Given the description of an element on the screen output the (x, y) to click on. 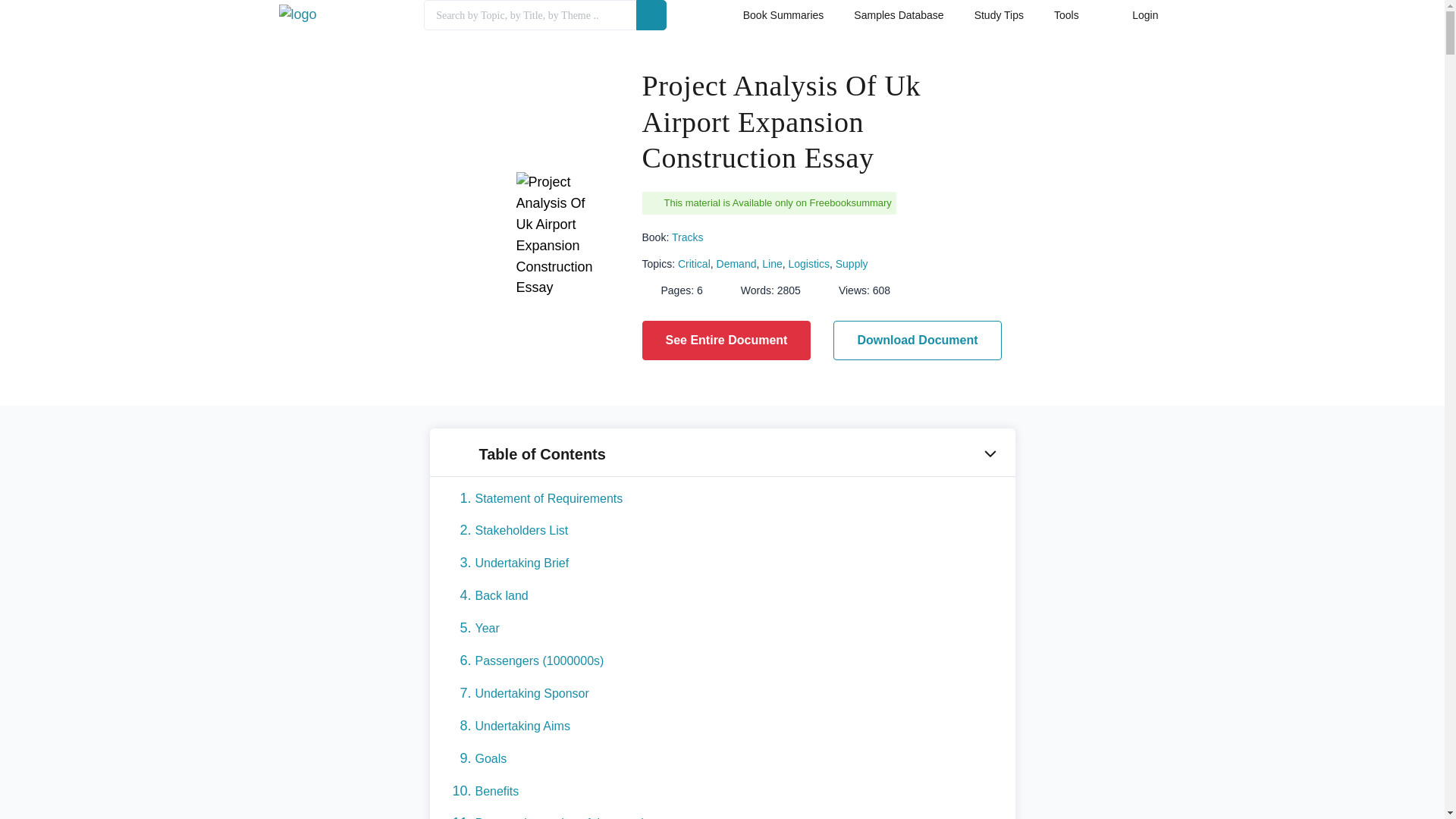
Goals (490, 758)
Undertaking Sponsor (531, 693)
Book Summaries (783, 18)
Statement of Requirements (548, 497)
Tools (1066, 18)
Study Tips (998, 18)
Demand (736, 263)
Samples Database (897, 18)
Tracks (687, 236)
Benefits (496, 790)
